Given the description of an element on the screen output the (x, y) to click on. 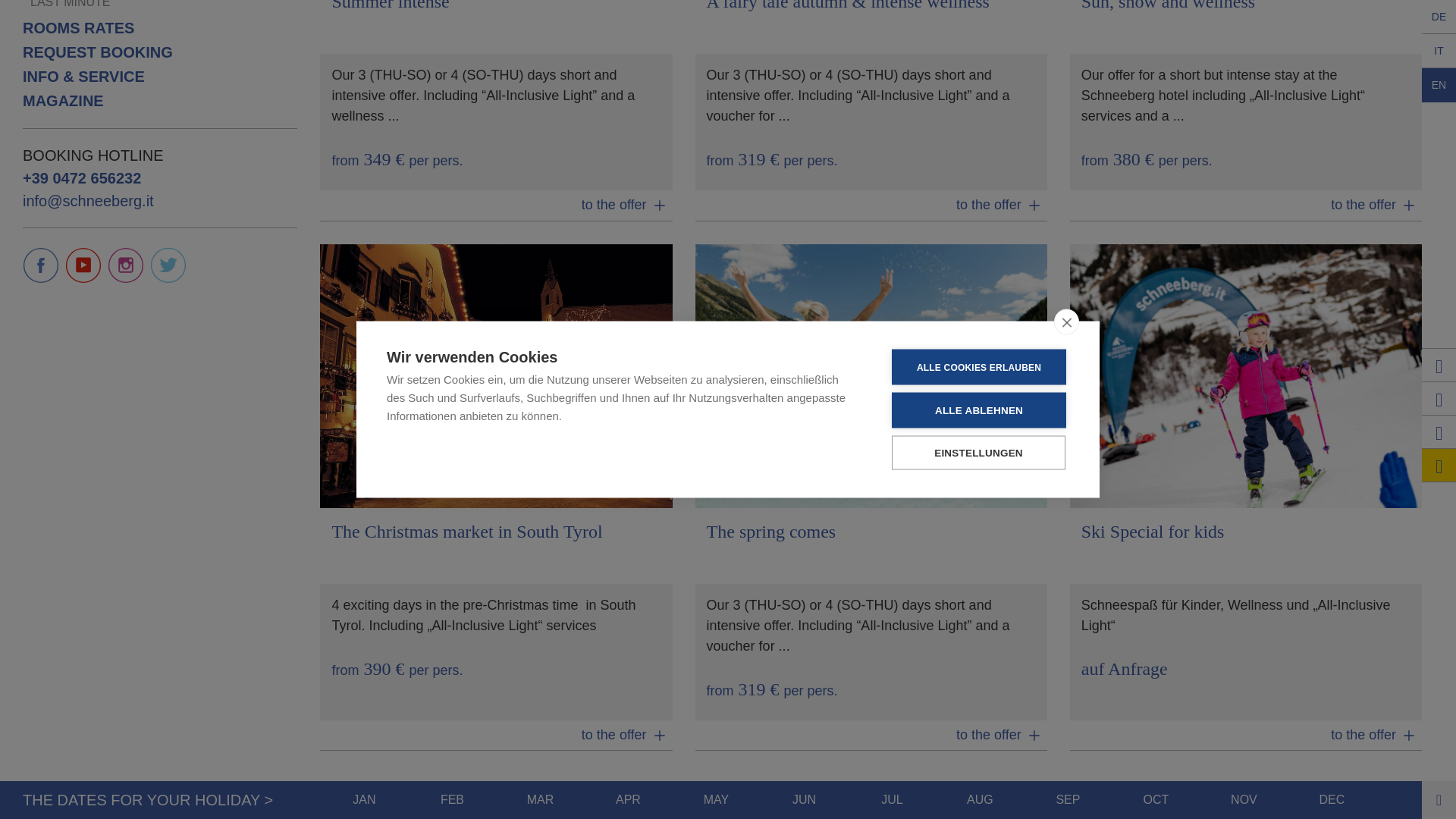
January (363, 262)
March (539, 262)
February (451, 262)
Sun, snow and wellness (1246, 110)
Summer intense (495, 110)
